Given the description of an element on the screen output the (x, y) to click on. 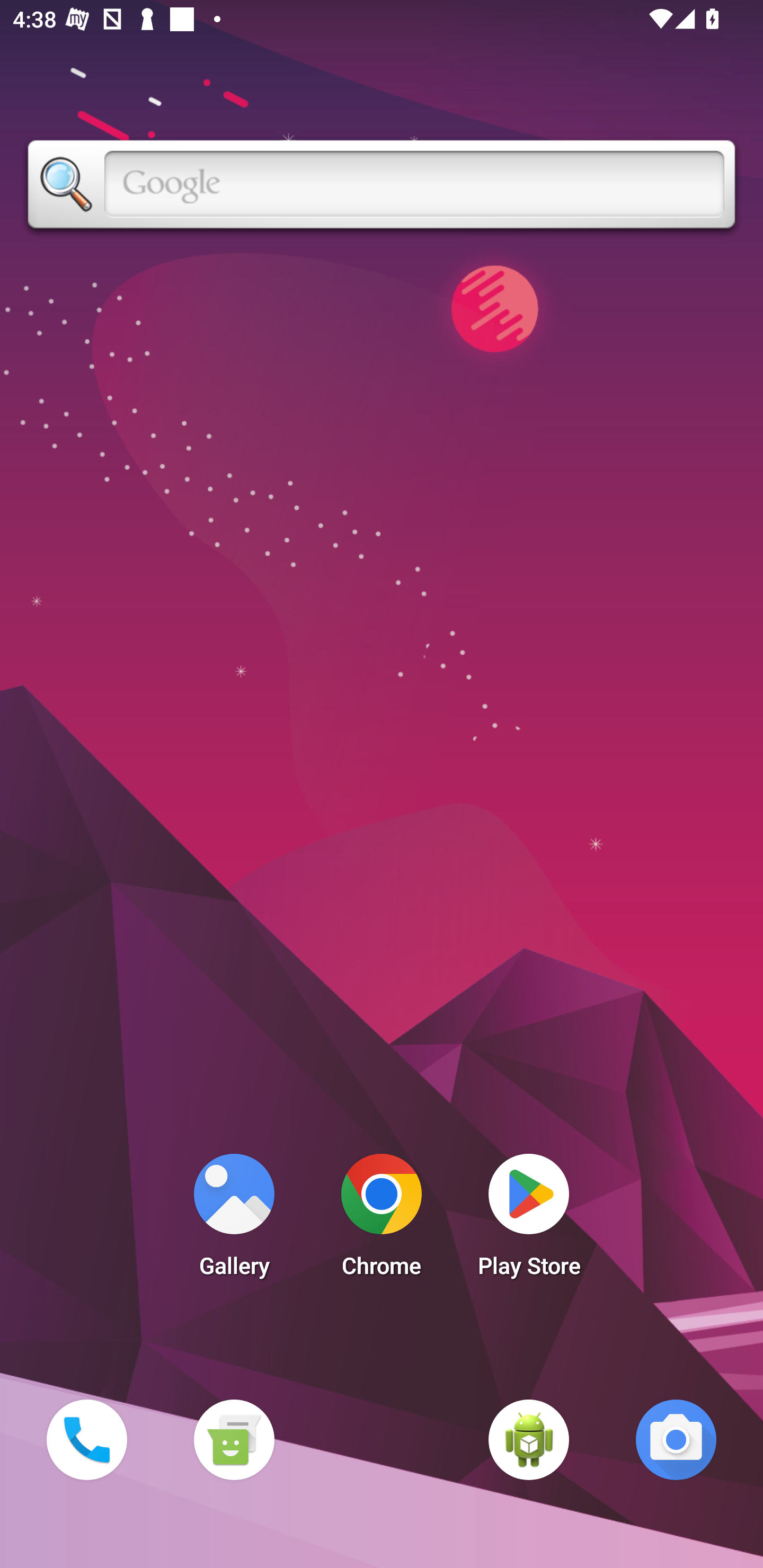
Gallery (233, 1220)
Chrome (381, 1220)
Play Store (528, 1220)
Phone (86, 1439)
Messaging (233, 1439)
WebView Browser Tester (528, 1439)
Camera (676, 1439)
